Given the description of an element on the screen output the (x, y) to click on. 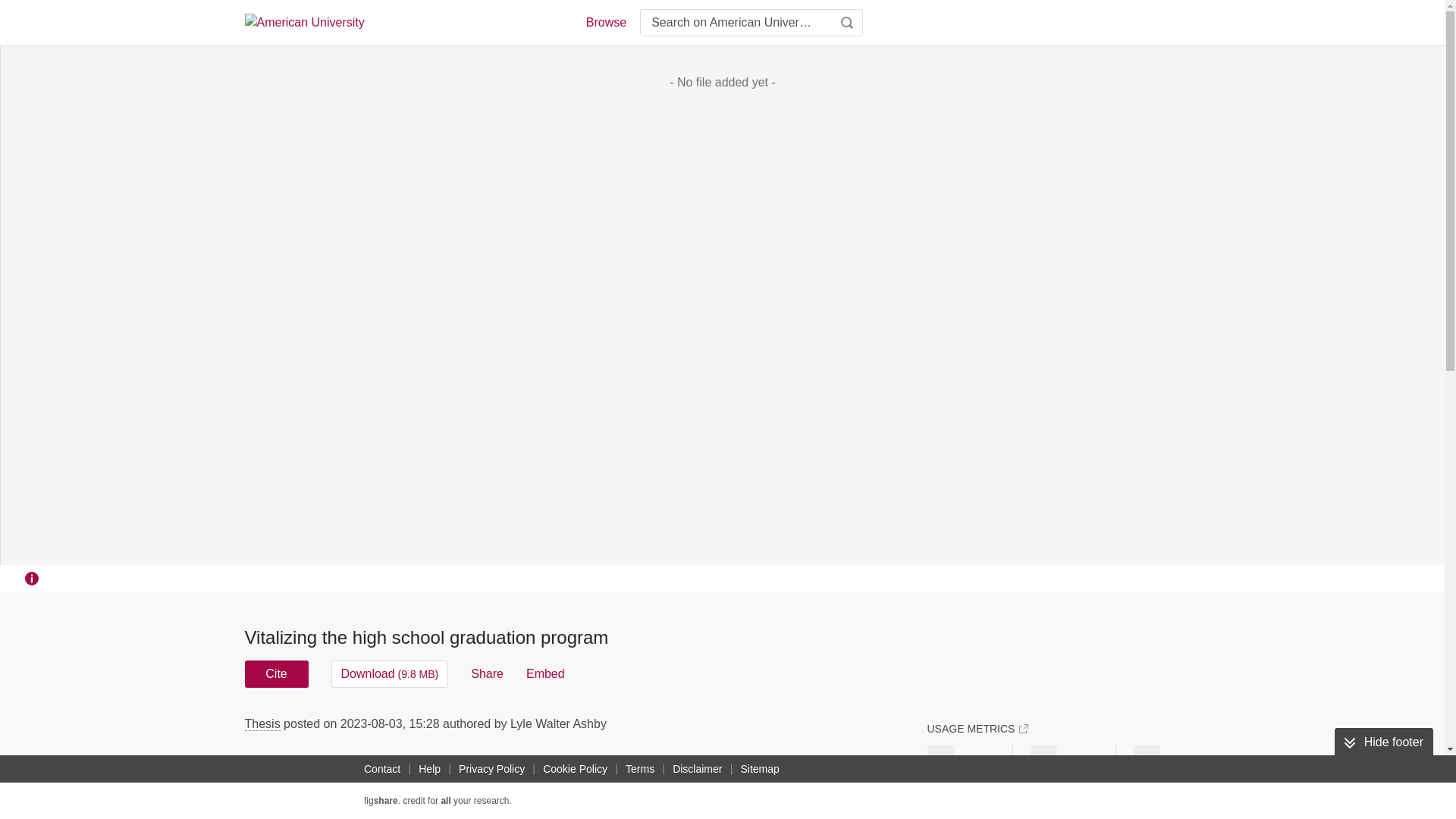
Cite (275, 673)
Cookie Policy (574, 769)
Privacy Policy (491, 769)
Terms (640, 769)
Share (486, 673)
Sitemap (759, 769)
Help (429, 769)
Disclaimer (697, 769)
Embed (544, 673)
Hide footer (1383, 742)
